Given the description of an element on the screen output the (x, y) to click on. 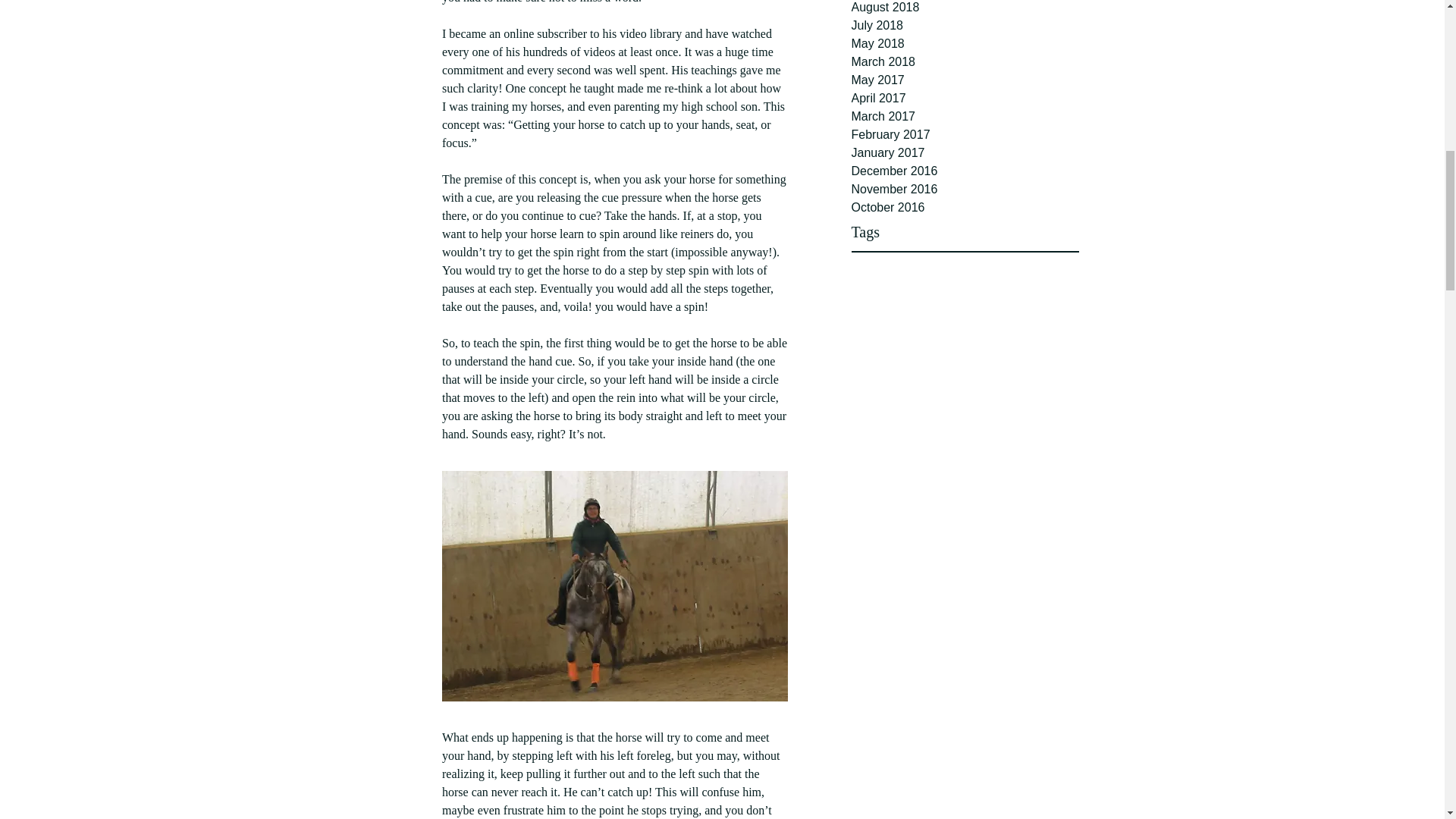
March 2017 (964, 116)
March 2018 (964, 62)
July 2018 (964, 25)
May 2018 (964, 44)
May 2017 (964, 80)
February 2017 (964, 135)
April 2017 (964, 98)
August 2018 (964, 8)
